Given the description of an element on the screen output the (x, y) to click on. 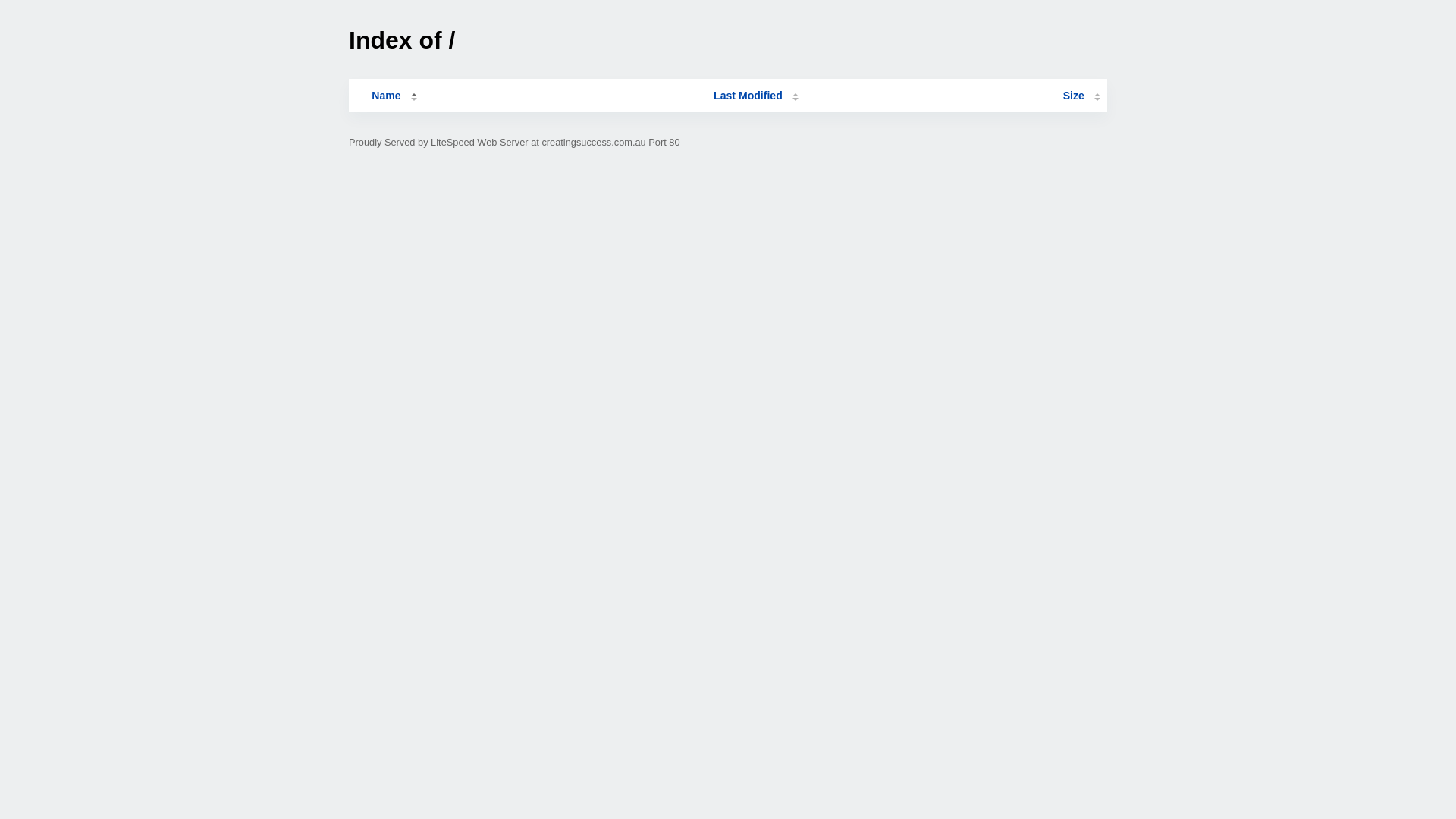
Size Element type: text (1081, 95)
Last Modified Element type: text (755, 95)
Name Element type: text (385, 95)
